Given the description of an element on the screen output the (x, y) to click on. 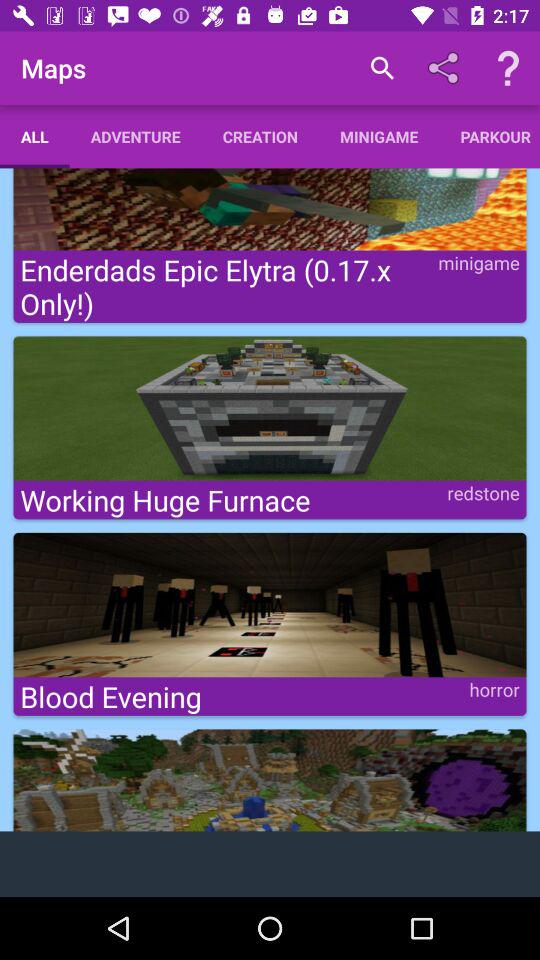
help icon (508, 67)
